Given the description of an element on the screen output the (x, y) to click on. 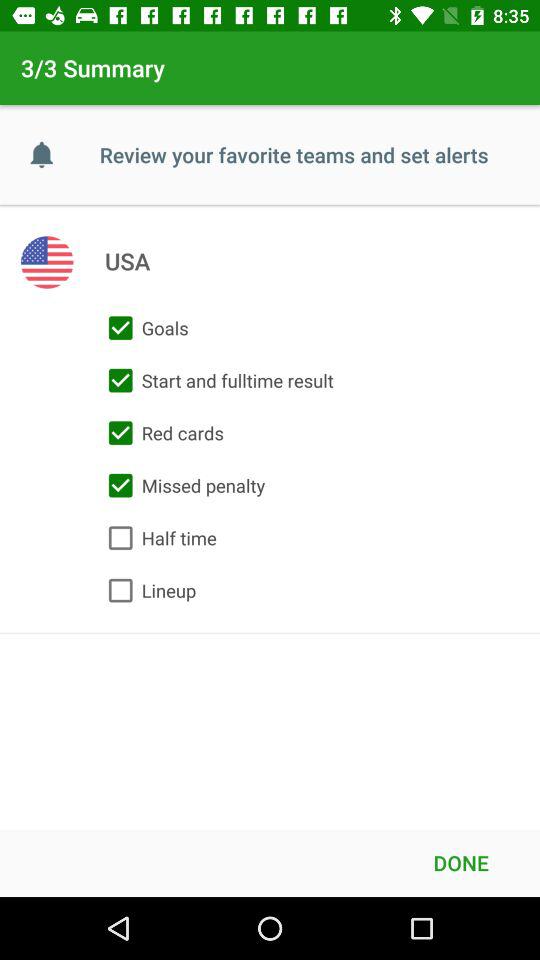
select done icon (461, 862)
